Given the description of an element on the screen output the (x, y) to click on. 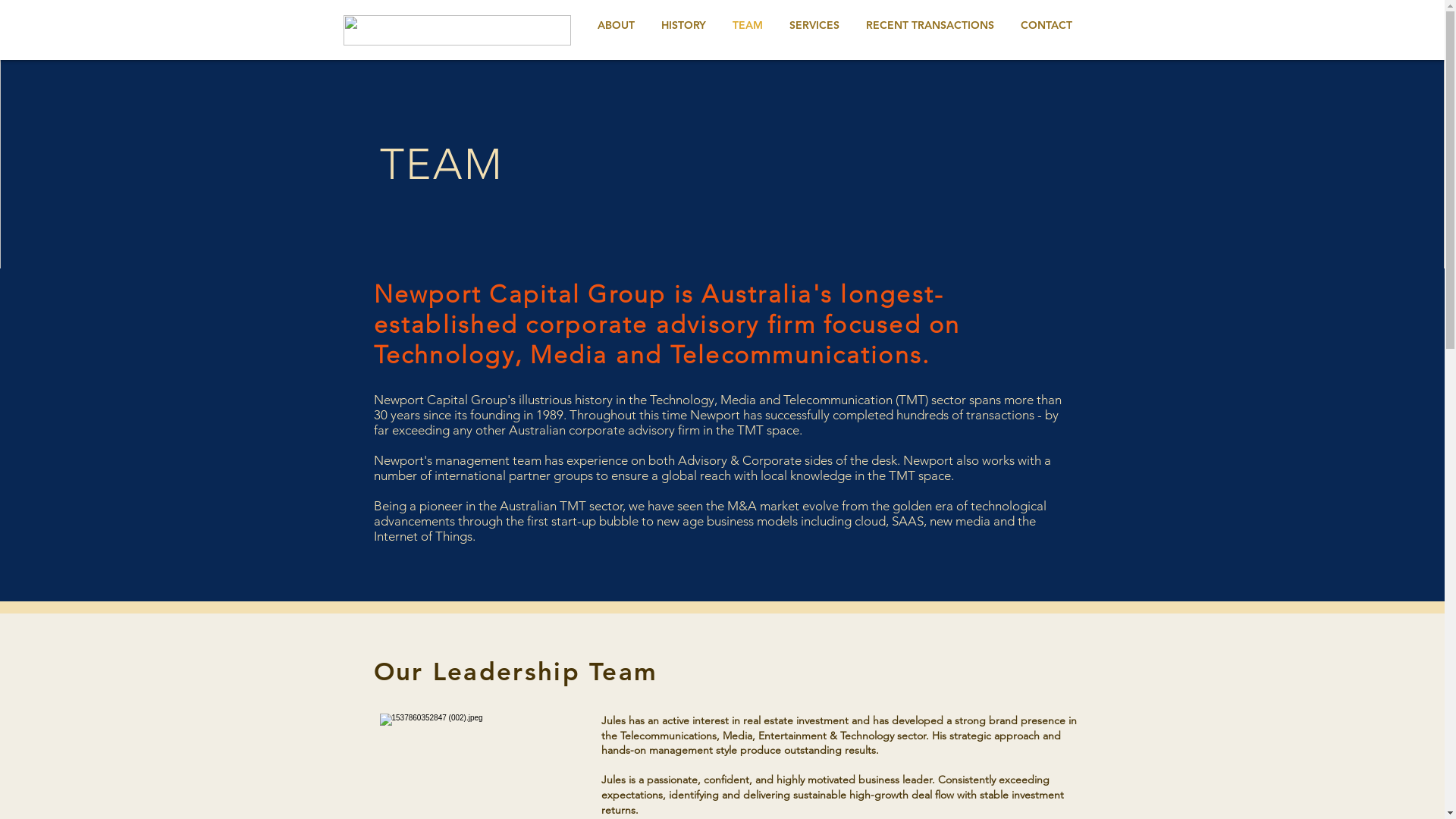
CONTACT Element type: text (1045, 25)
RECENT TRANSACTIONS Element type: text (929, 25)
TEAM Element type: text (746, 25)
SERVICES Element type: text (814, 25)
ABOUT Element type: text (615, 25)
HISTORY Element type: text (682, 25)
